Given the description of an element on the screen output the (x, y) to click on. 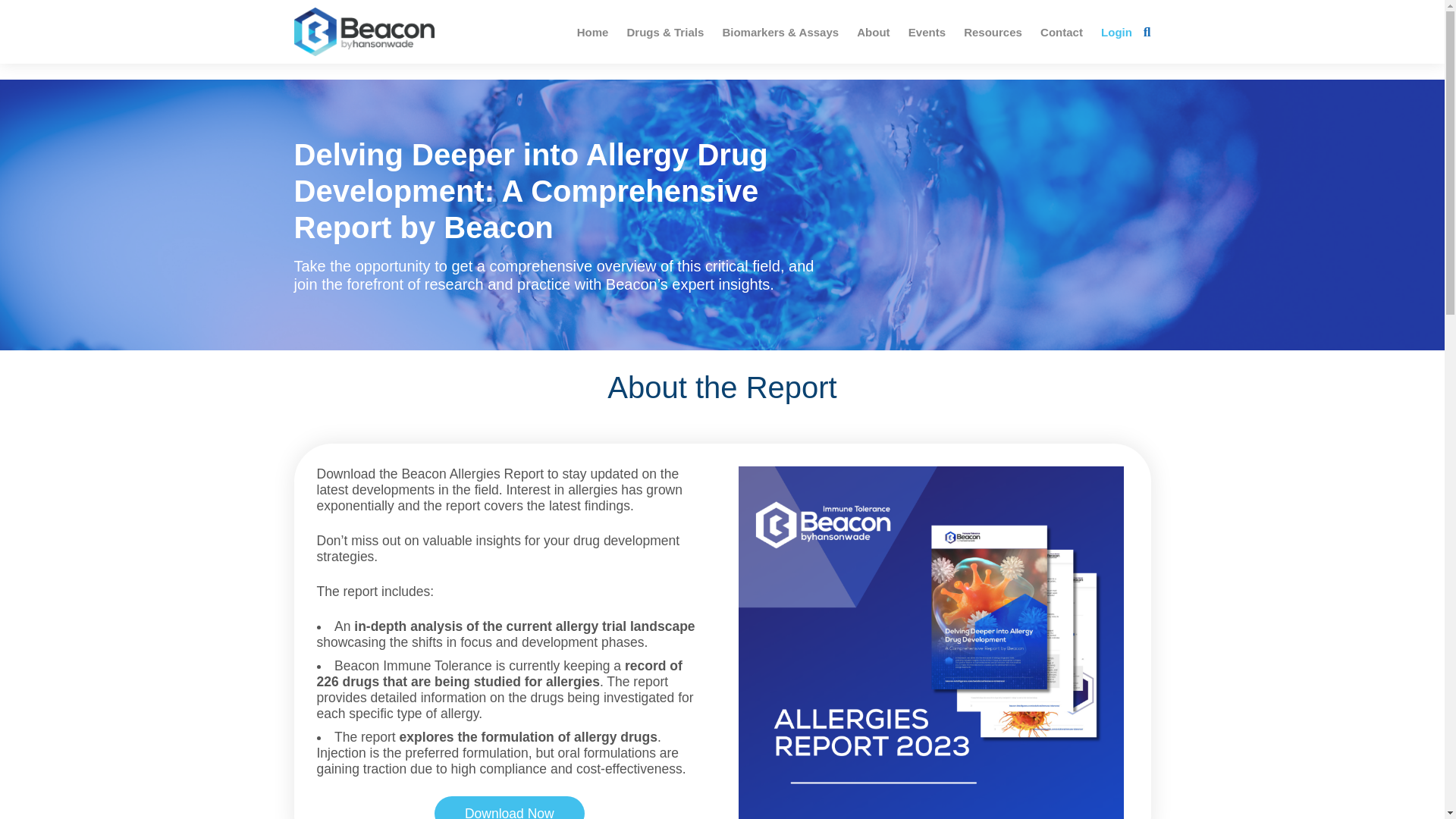
Login (1116, 32)
Events (927, 32)
Resources (992, 32)
Home (592, 32)
Download Now (509, 807)
About (872, 32)
Contact (1061, 32)
